Given the description of an element on the screen output the (x, y) to click on. 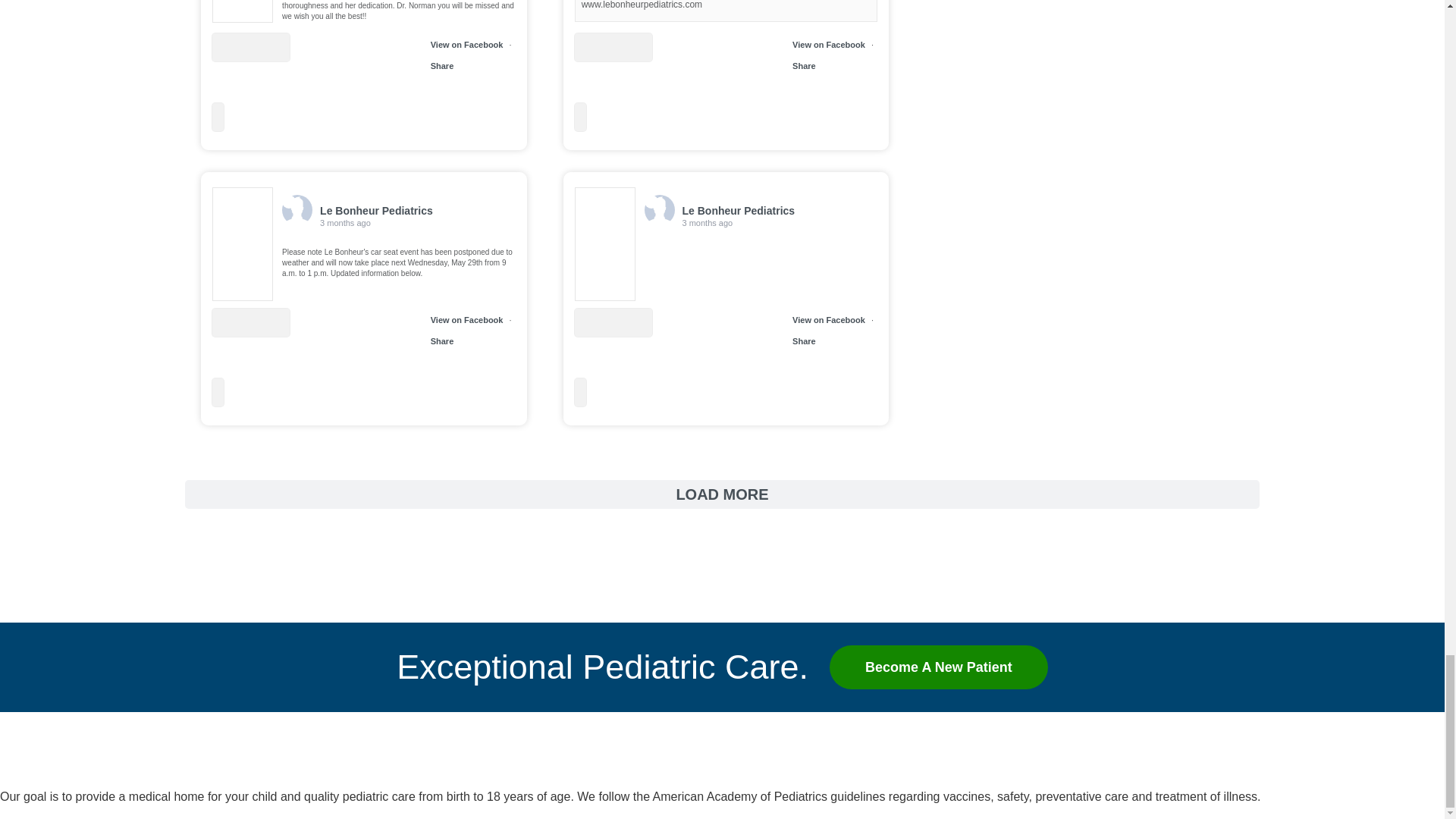
View on Facebook (828, 44)
View on Facebook (466, 44)
Share (442, 340)
Le Bonheur Pediatrics (28, 764)
Share (803, 340)
Share (442, 65)
Share (803, 65)
View on Facebook (828, 319)
View on Facebook (466, 319)
